Given the description of an element on the screen output the (x, y) to click on. 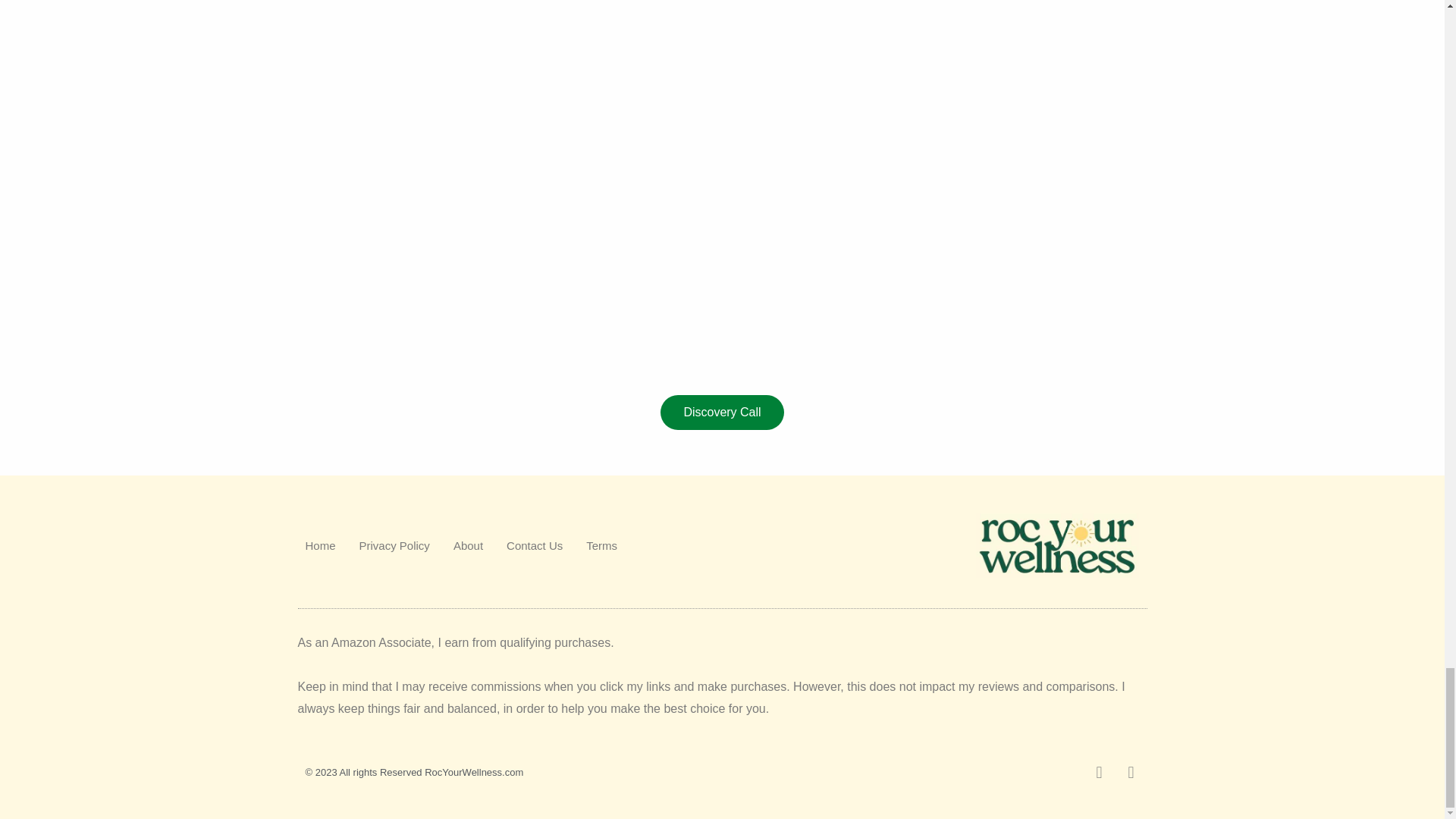
Discovery Call (722, 411)
Privacy Policy (394, 545)
Terms (601, 545)
Facebook-f (1098, 772)
Contact Us (534, 545)
Instagram (1130, 772)
